Given the description of an element on the screen output the (x, y) to click on. 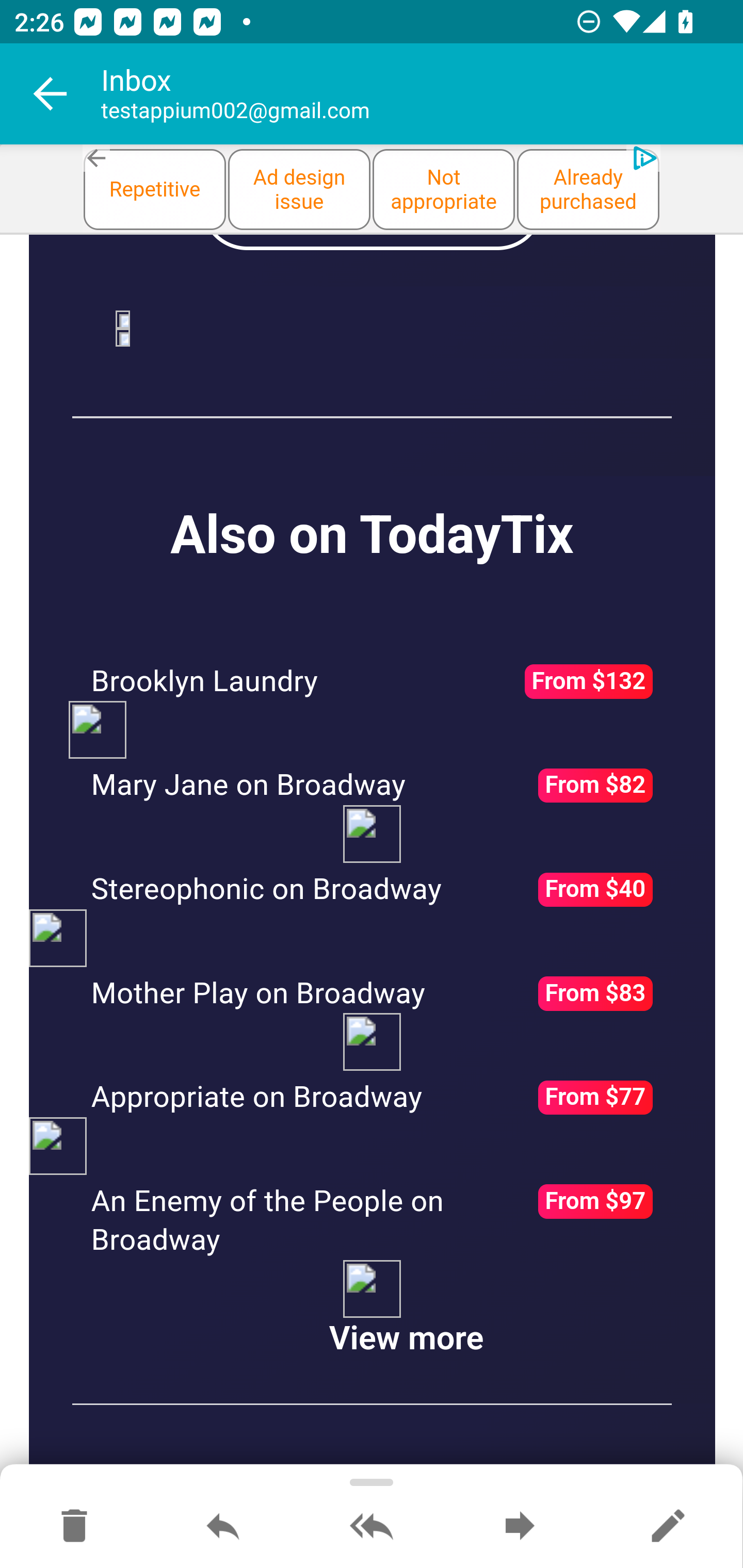
Navigate up (50, 93)
Inbox testappium002@gmail.com (422, 93)
back_button2 (96, 159)
privacy_small (642, 159)
Repetitive (154, 188)
Ad design issue (299, 188)
Not appropriate (443, 188)
Already purchased (587, 188)
Brooklyn Laundry (204, 682)
Mary Jane on Broadway (248, 786)
Stereophonic on Broadway (266, 891)
Mother Play on Broadway (258, 994)
Appropriate on Broadway (257, 1098)
An Enemy of the People on Broadway (267, 1221)
View more (405, 1341)
Move to Deleted (74, 1527)
Reply (222, 1527)
Reply all (371, 1527)
Forward (519, 1527)
Reply as new (667, 1527)
